Given the description of an element on the screen output the (x, y) to click on. 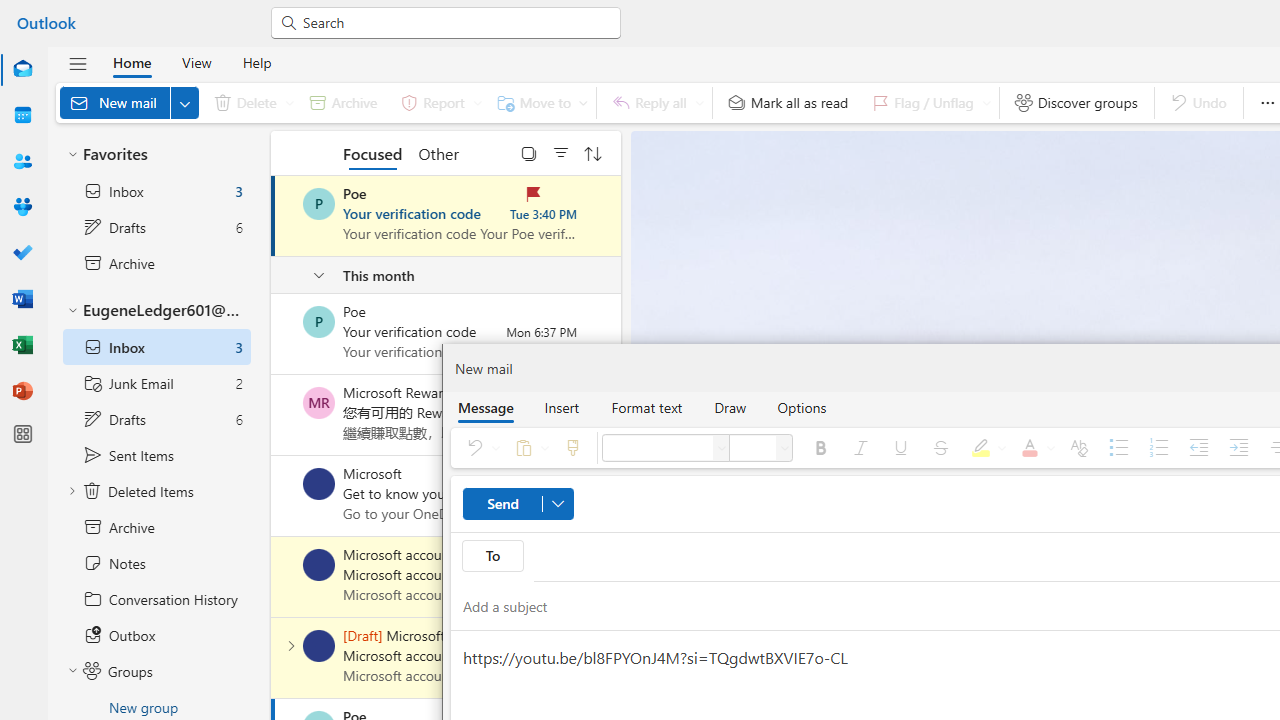
Underline (900, 447)
Insert (561, 407)
Font (721, 448)
View (196, 61)
Bullets (1119, 447)
Message (485, 407)
Options (801, 407)
Undo (479, 447)
Microsoft Rewards (319, 403)
System (10, 11)
Italic (860, 447)
Expand to see more report options (477, 102)
People (22, 161)
Expand conversation (291, 646)
